Given the description of an element on the screen output the (x, y) to click on. 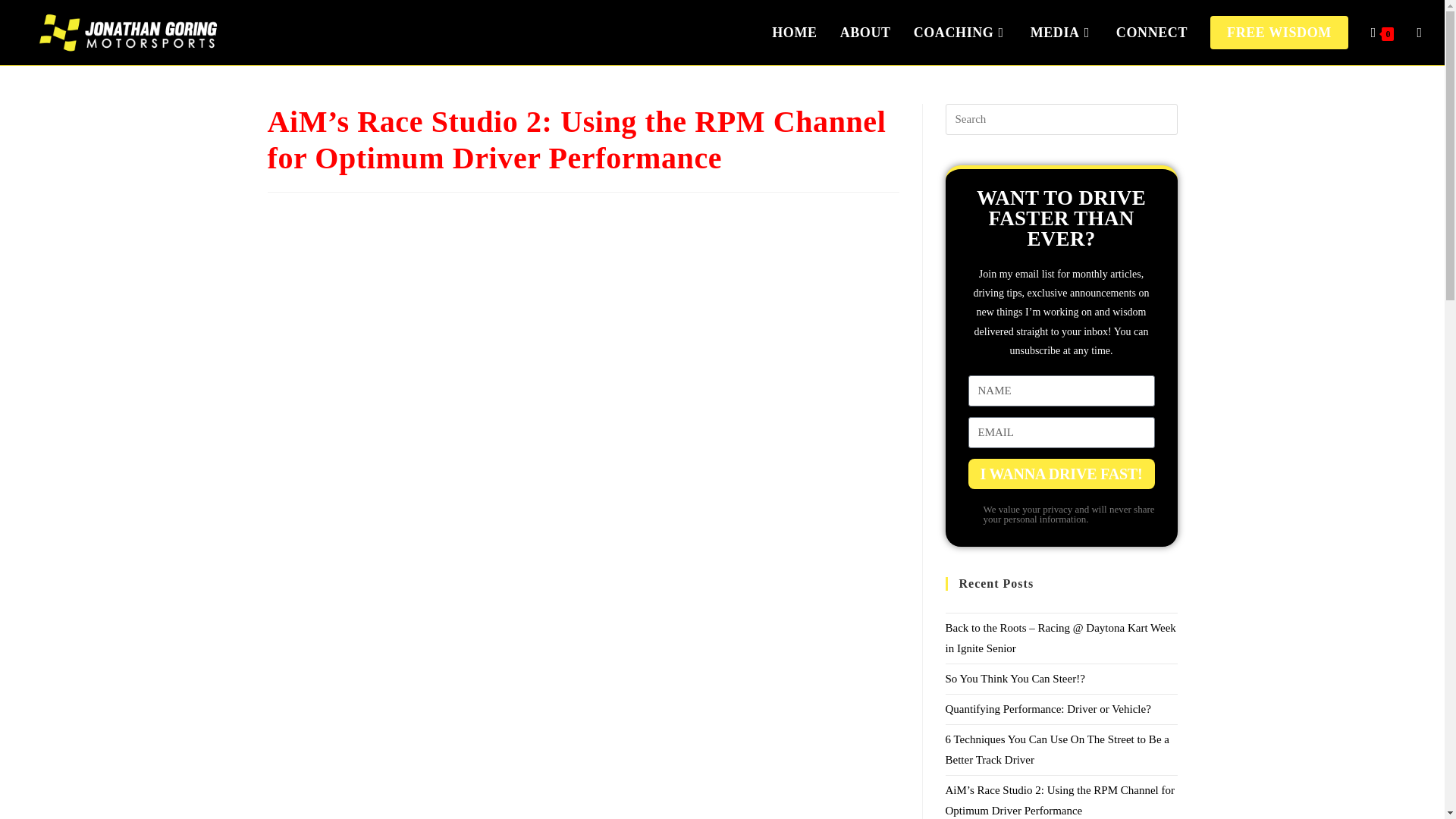
FREE WISDOM (1278, 32)
ABOUT (865, 32)
I WANNA DRIVE FAST! (1061, 473)
So You Think You Can Steer!? (1014, 678)
CONNECT (1151, 32)
Quantifying Performance: Driver or Vehicle? (1047, 708)
HOME (794, 32)
COACHING (960, 32)
MEDIA (1062, 32)
